Given the description of an element on the screen output the (x, y) to click on. 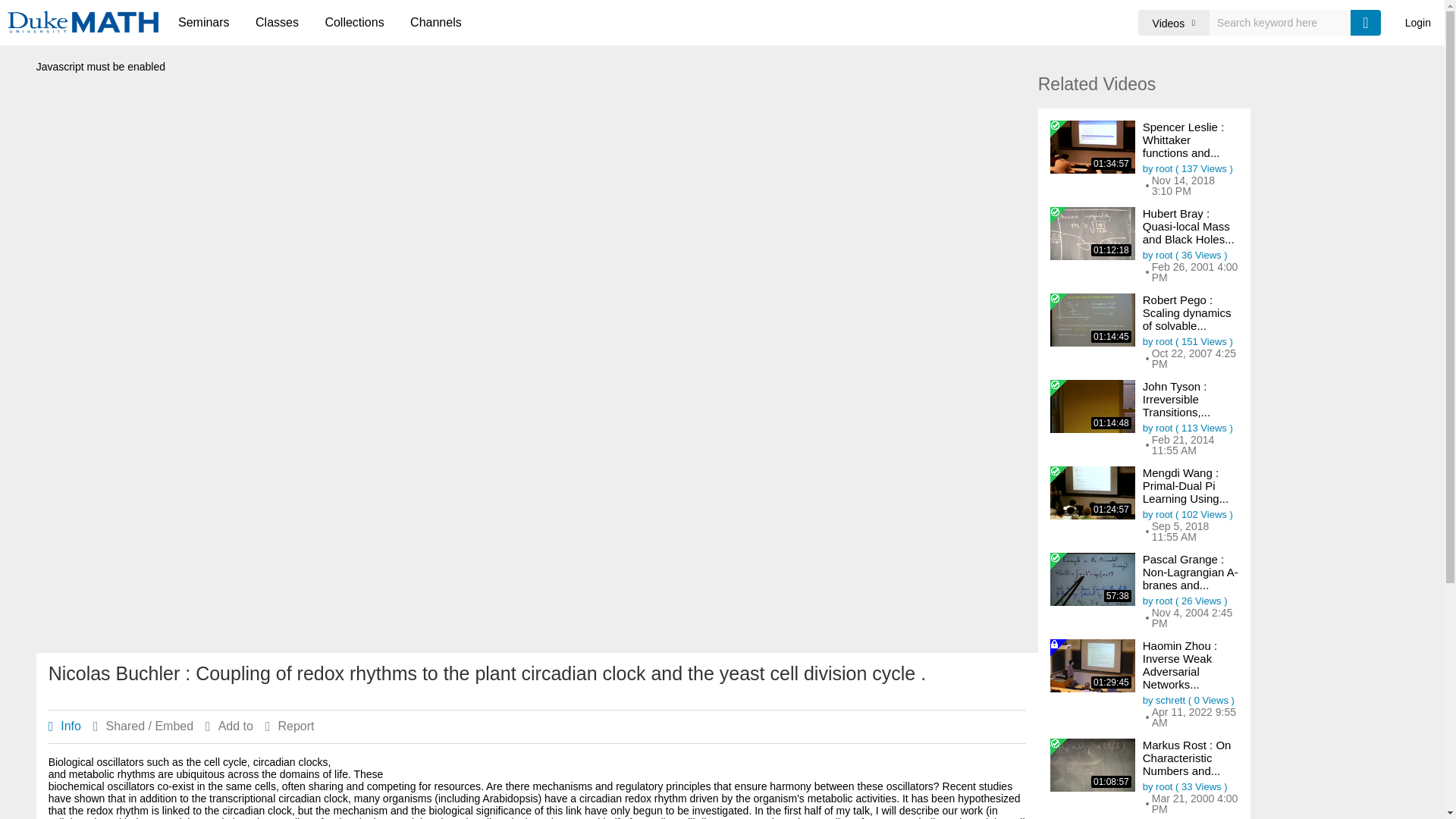
Collections (353, 22)
01:14:48 (1092, 406)
root (1164, 255)
Seminars (204, 22)
Hubert Bray : Quasi-local Mass and Black Holes... (1188, 226)
Login (1418, 22)
01:14:45 (1092, 319)
01:12:18 (1092, 233)
Videos (1173, 22)
Robert Pego : Scaling dynamics of solvable... (1186, 312)
